Given the description of an element on the screen output the (x, y) to click on. 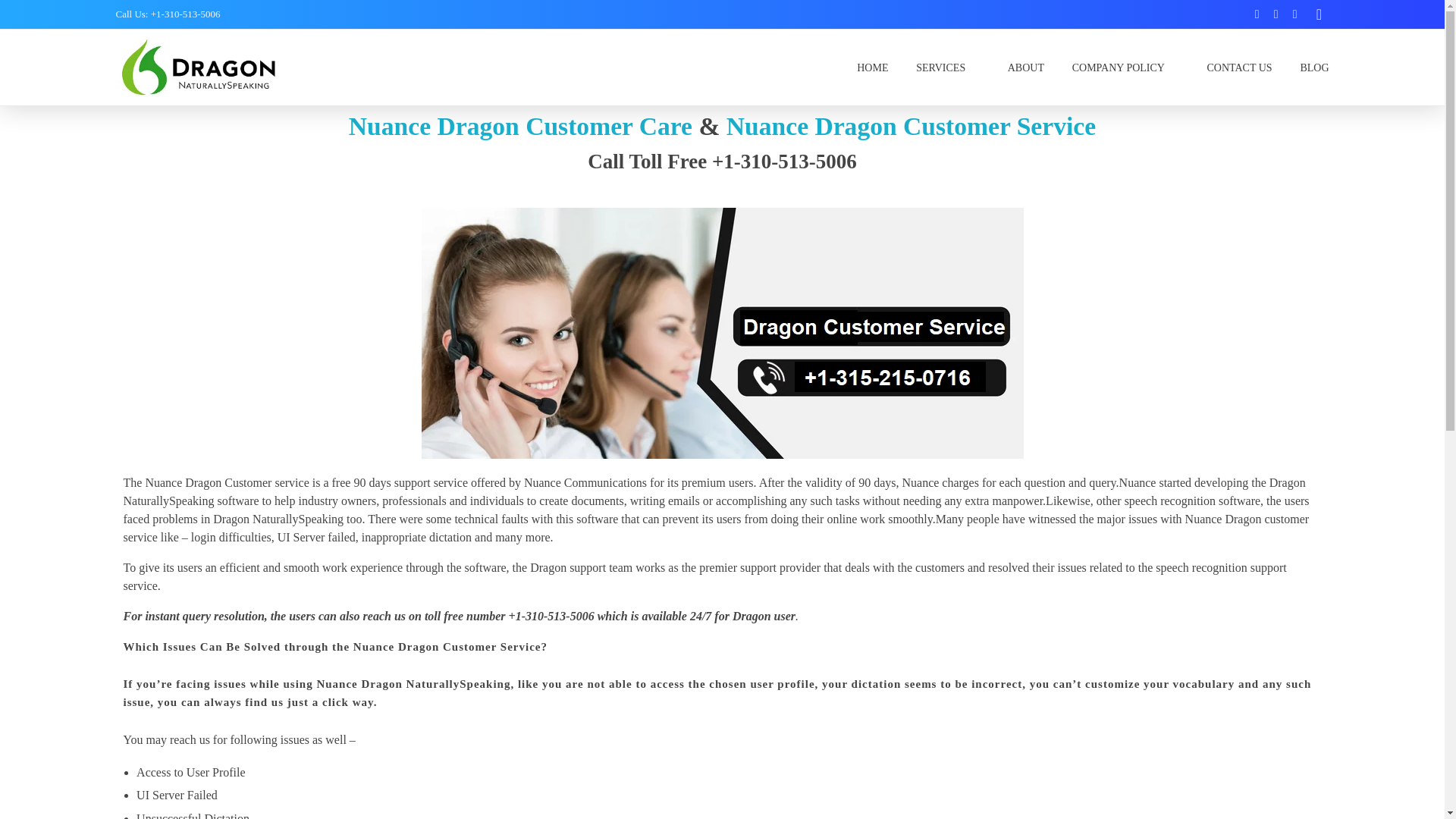
Nuance Dragon Customer Care (521, 126)
COMPANY POLICY (1125, 67)
Nuance Dragon Customer Service (911, 126)
CONTACT US (1238, 67)
SERVICES (948, 67)
